Given the description of an element on the screen output the (x, y) to click on. 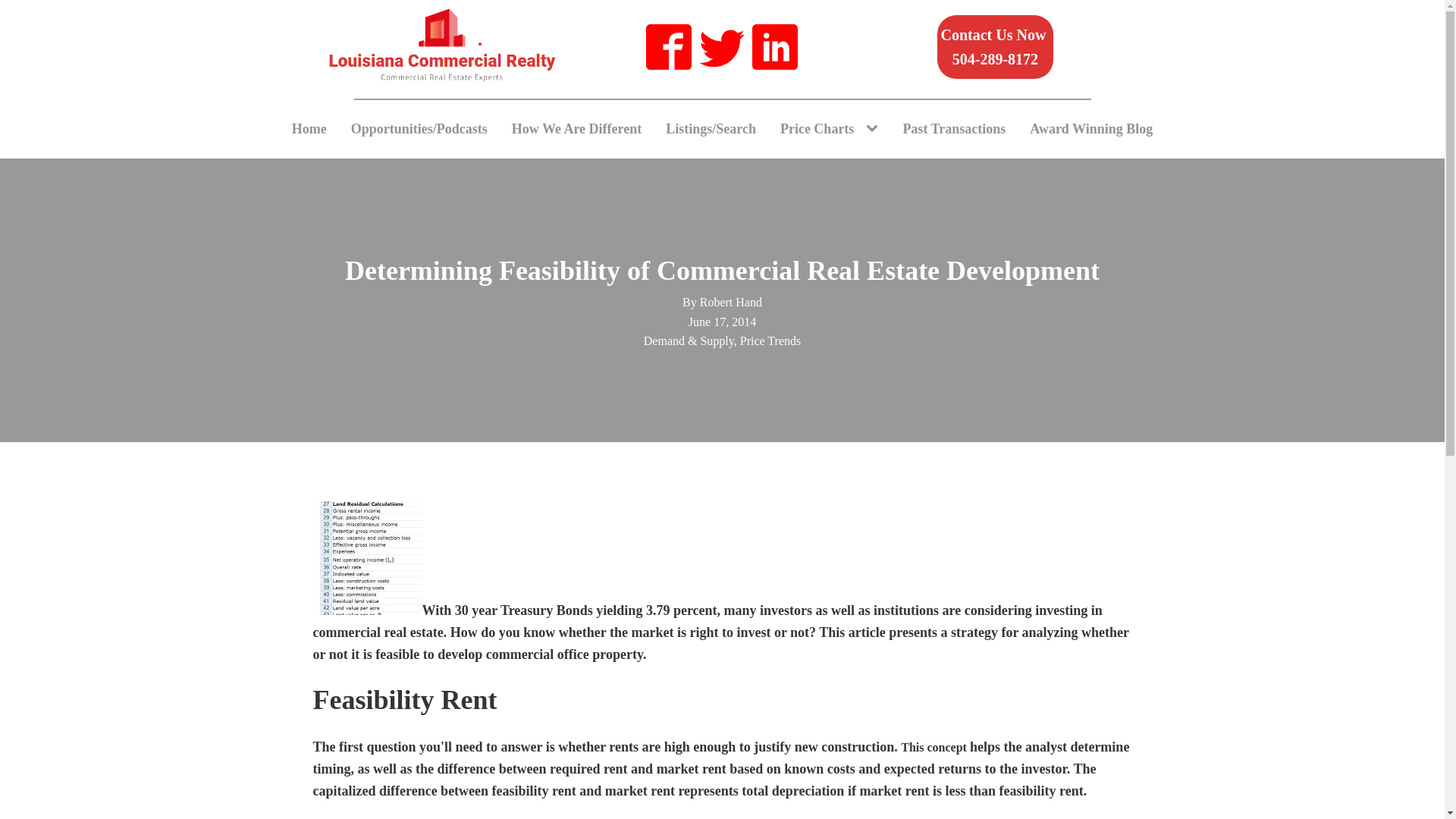
Price Trends (769, 340)
Past Transactions (953, 129)
Price Charts (817, 129)
Award Winning Blog (995, 46)
Home (1090, 129)
How We Are Different (309, 129)
